Given the description of an element on the screen output the (x, y) to click on. 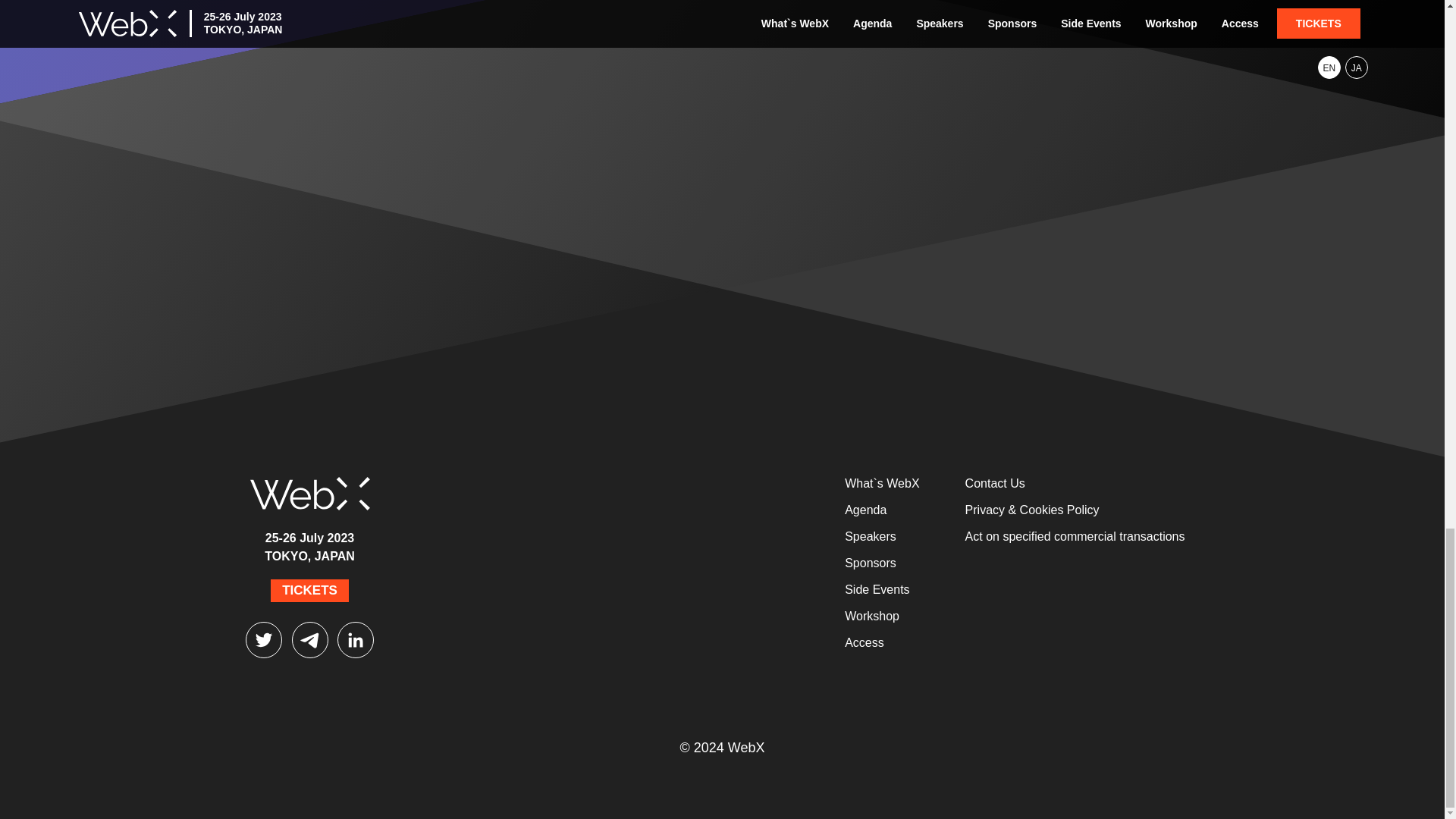
Contact Us (995, 482)
Workshop (871, 615)
Side Events (876, 589)
SEND (883, 224)
TICKETS (309, 590)
WebX Home (309, 487)
Agenda (865, 509)
Act on specified commercial transactions (1075, 535)
Speakers (870, 535)
Sponsors (870, 562)
